Given the description of an element on the screen output the (x, y) to click on. 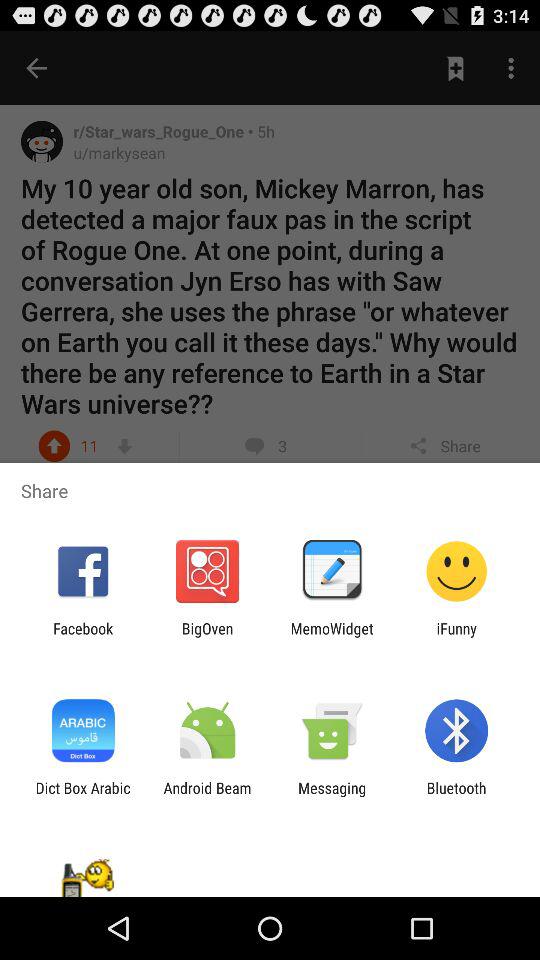
tap the icon next to dict box arabic app (207, 796)
